Given the description of an element on the screen output the (x, y) to click on. 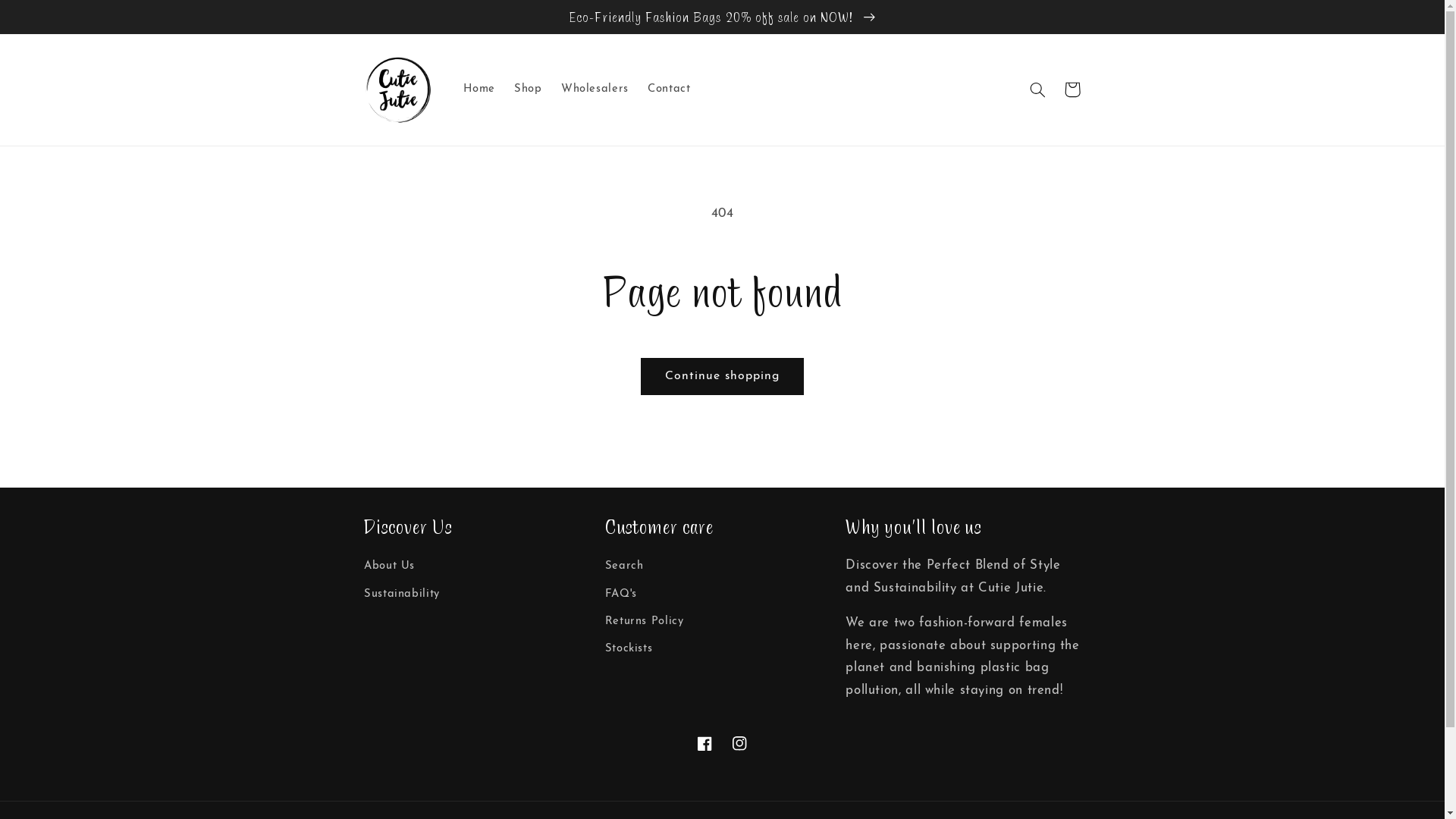
Contact Element type: text (668, 89)
Wholesalers Element type: text (594, 89)
Instagram Element type: text (738, 742)
Cart Element type: text (1071, 89)
Continue shopping Element type: text (721, 376)
Sustainability Element type: text (401, 593)
Eco-Friendly Fashion Bags 20% off sale on NOW! Element type: text (722, 16)
Shop Element type: text (528, 89)
Facebook Element type: text (704, 742)
About Us Element type: text (389, 568)
Stockists Element type: text (628, 648)
Returns Policy Element type: text (644, 621)
Search Element type: text (624, 568)
Home Element type: text (479, 89)
FAQ's Element type: text (621, 593)
